Given the description of an element on the screen output the (x, y) to click on. 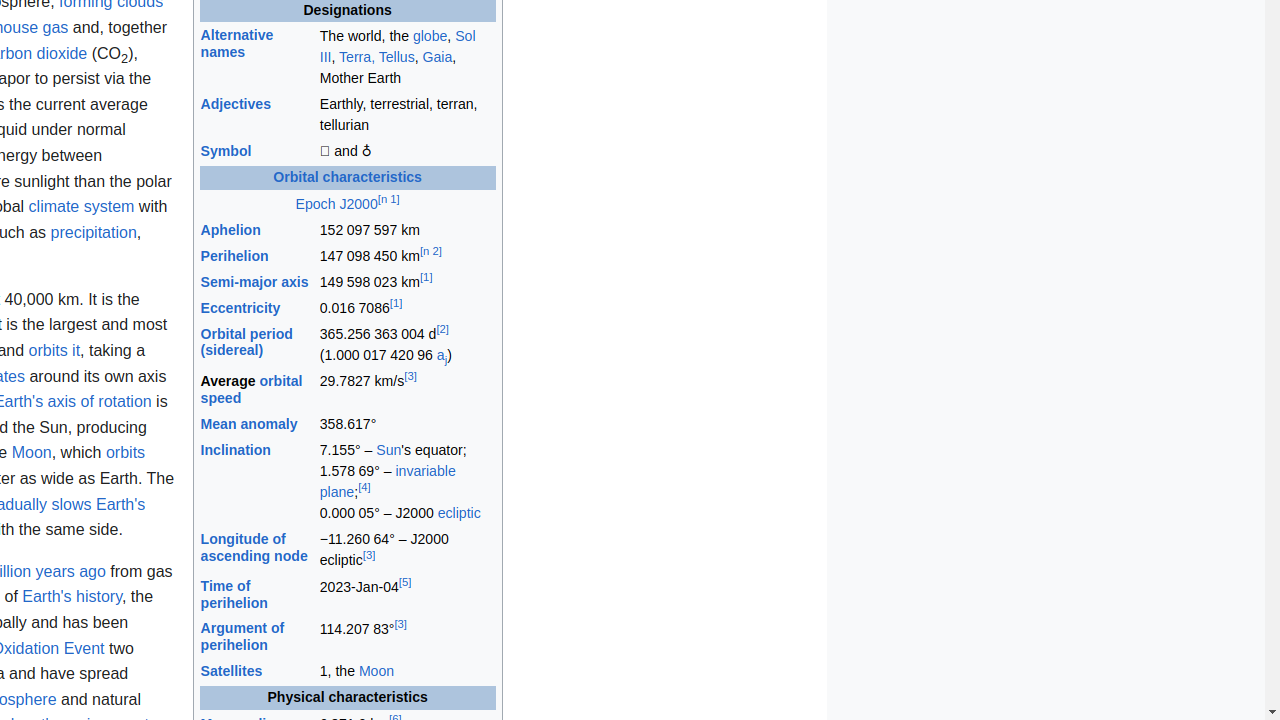
7.155° – Sun's equator; 1.57869° – invariable plane;[4] 0.00005° – J2000 ecliptic Element type: table-cell (407, 481)
Terra, Tellus Element type: link (377, 56)
The world, the globe, Sol III, Terra, Tellus, Gaia, Mother Earth Element type: table-cell (407, 57)
365.256363004 d[2] (1.00001742096 aj) Element type: table-cell (407, 345)
climate system Element type: link (81, 207)
